Given the description of an element on the screen output the (x, y) to click on. 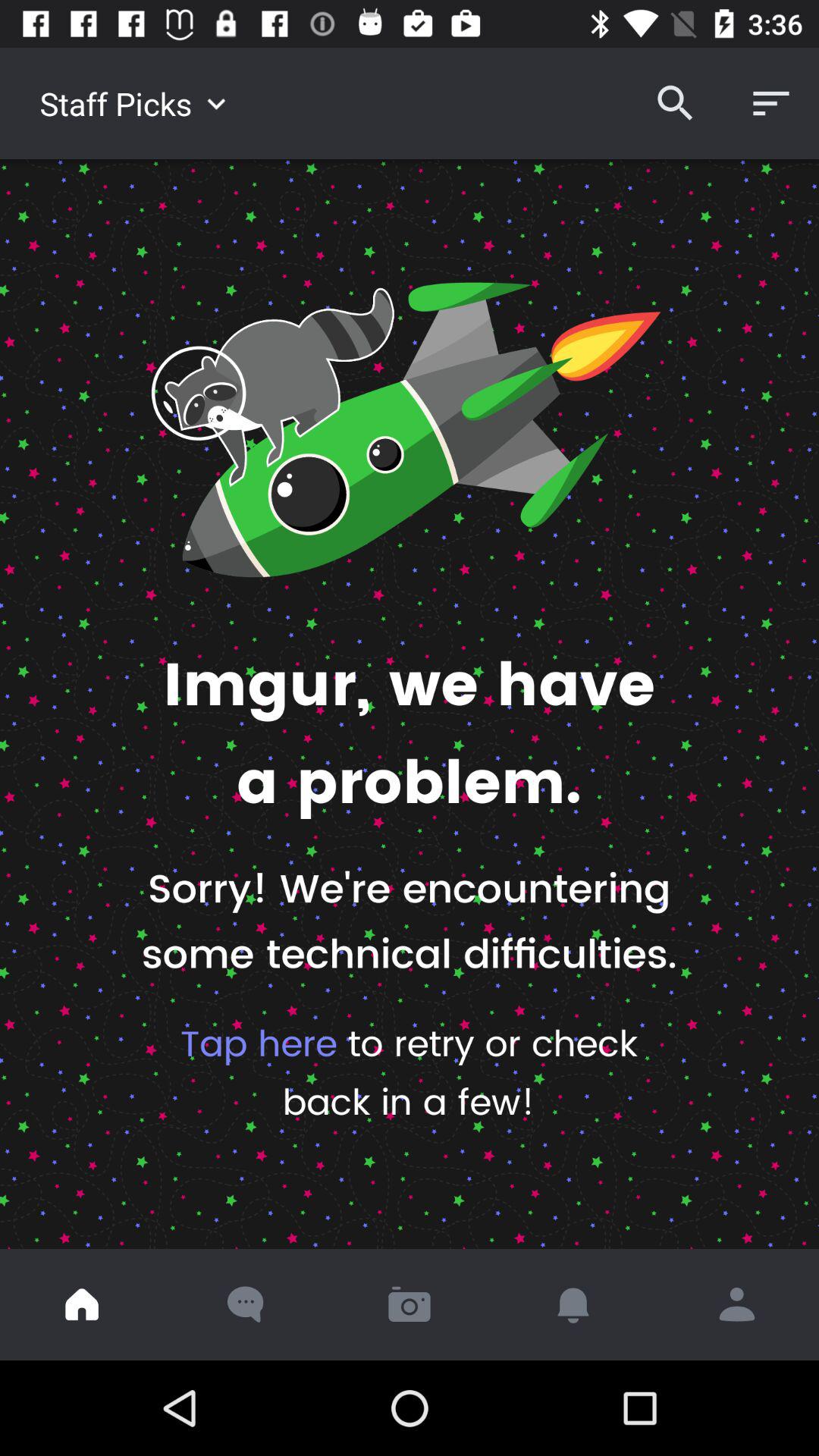
profile (737, 1304)
